Given the description of an element on the screen output the (x, y) to click on. 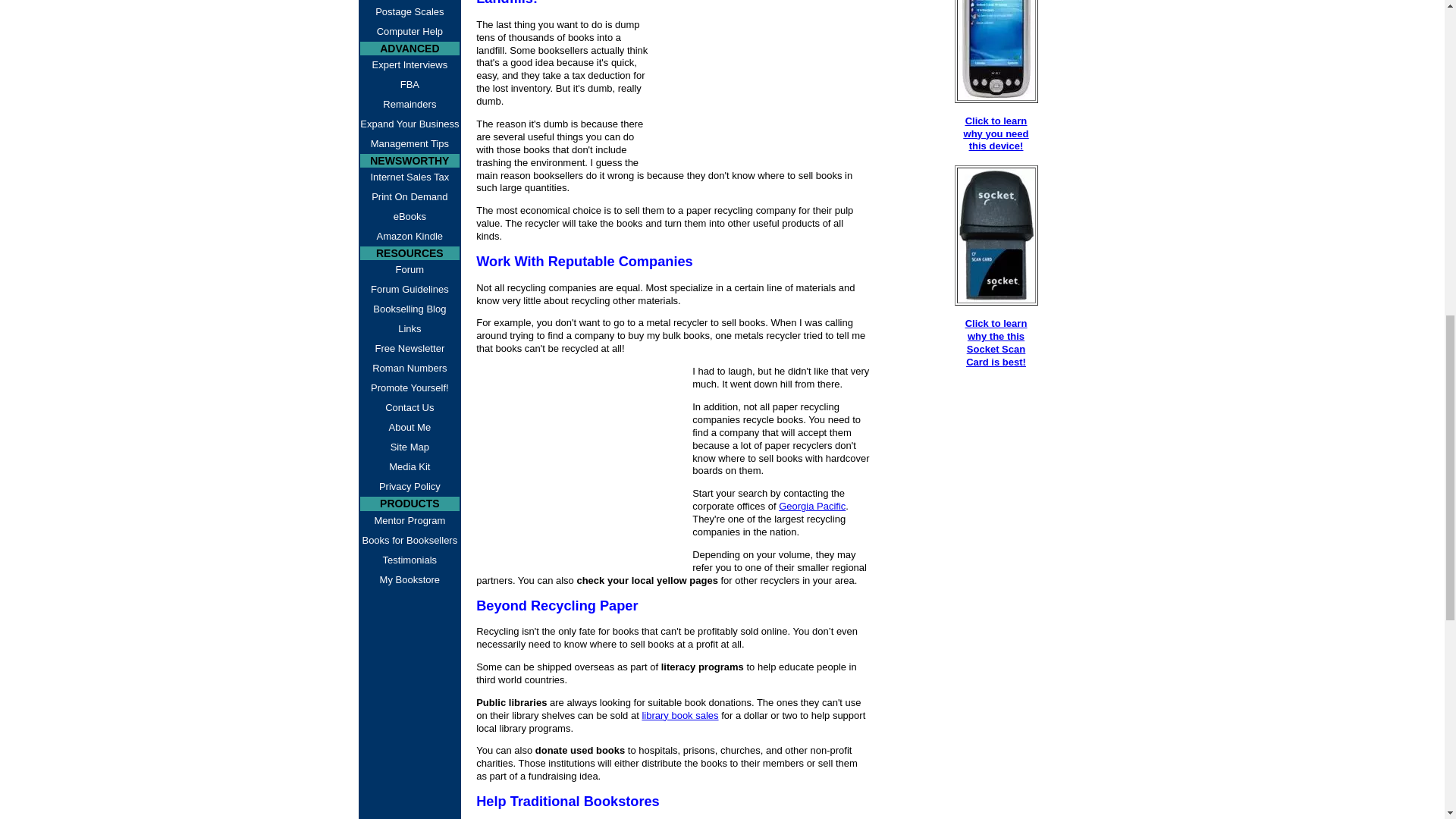
Print On Demand (409, 197)
Internet Sales Tax (409, 177)
Remainders (409, 104)
Expert Interviews (409, 65)
FBA (409, 85)
Expand Your Business (409, 124)
eBooks (409, 216)
Postage Scales (409, 12)
Management Tips (409, 143)
Online Postage (409, 1)
